Given the description of an element on the screen output the (x, y) to click on. 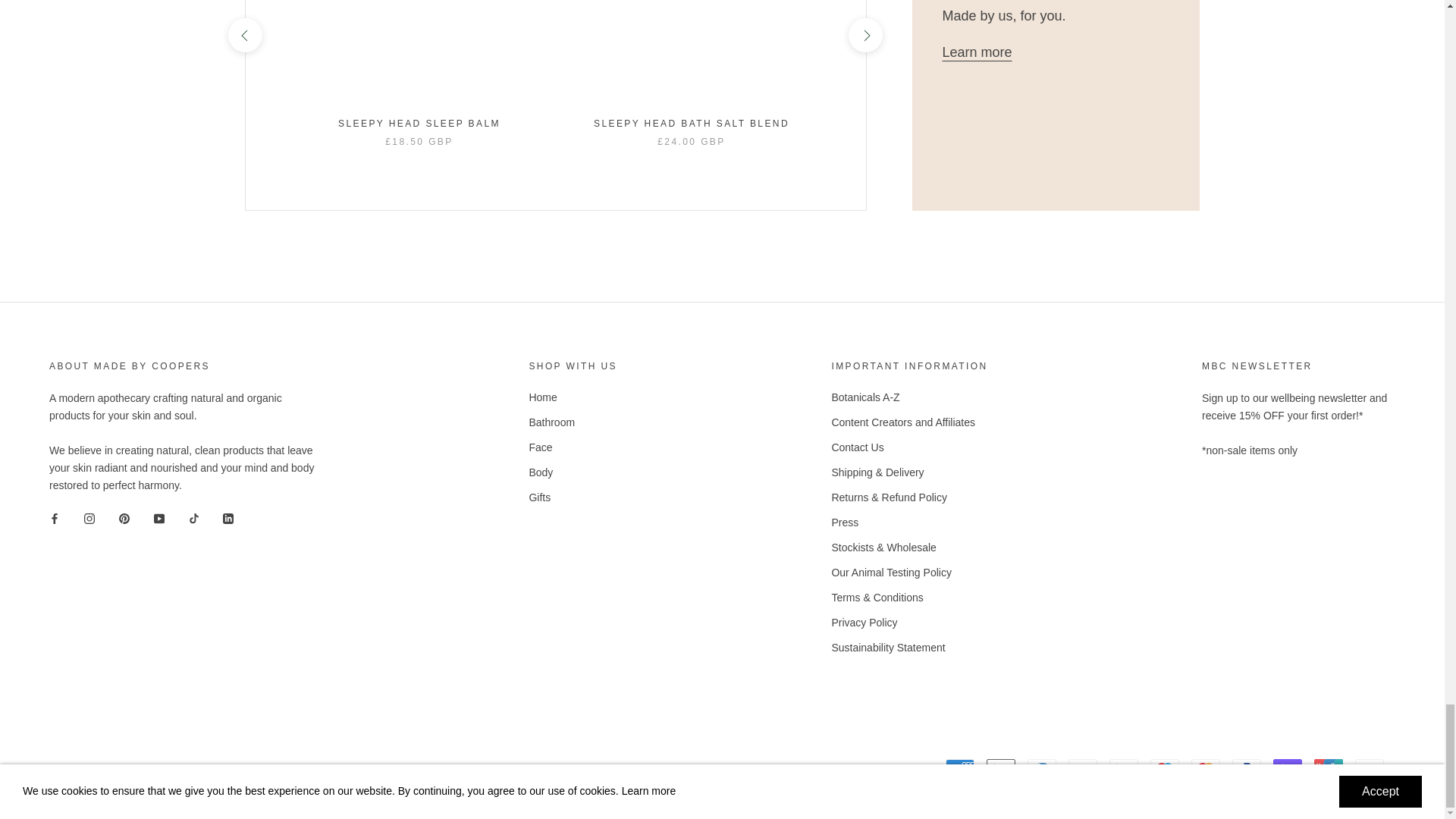
American Express (959, 768)
Google Pay (1123, 768)
Discover (1082, 768)
Apple Pay (1000, 768)
Diners Club (1042, 768)
Our Story (976, 52)
